Given the description of an element on the screen output the (x, y) to click on. 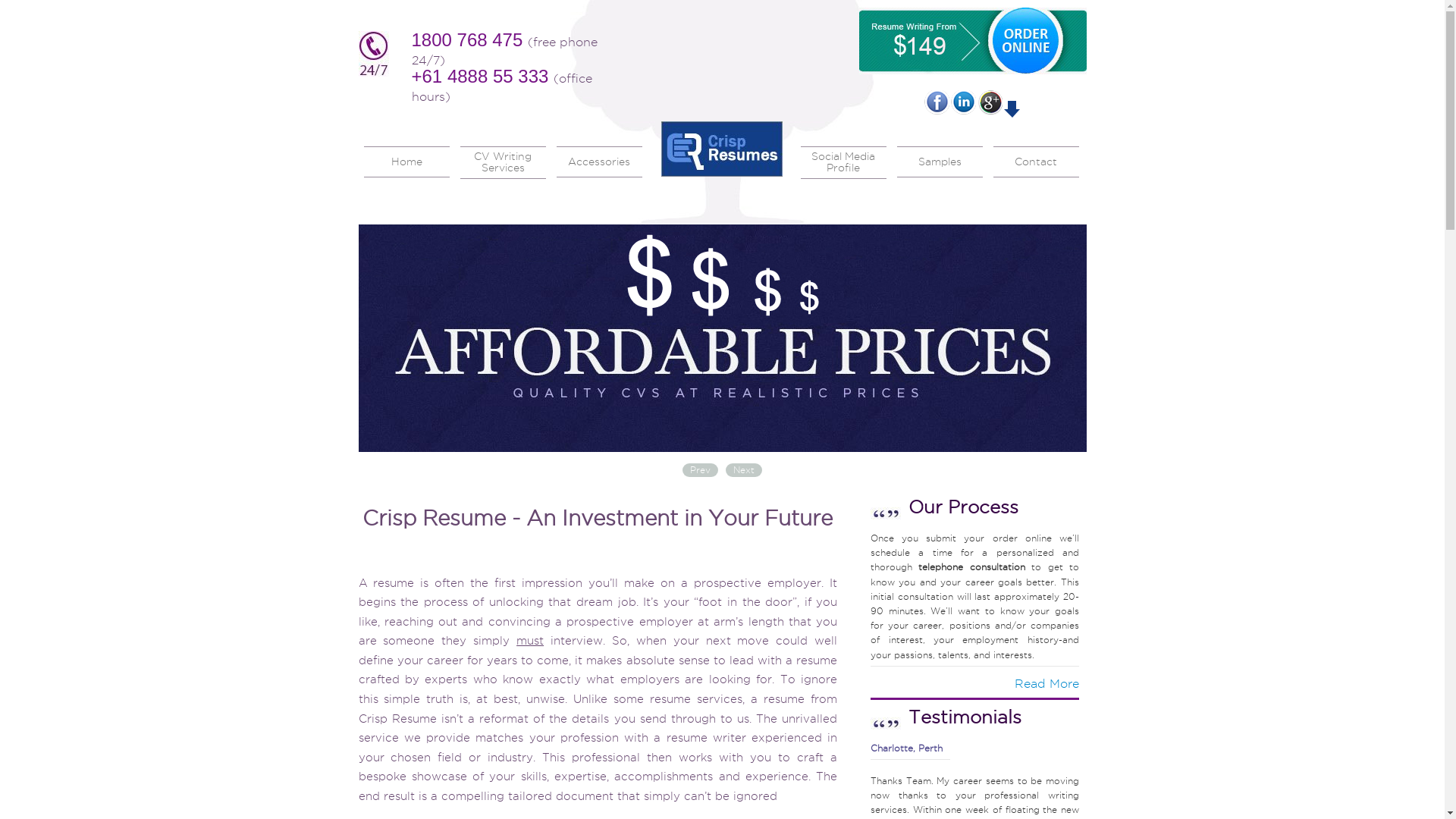
Crisp Resumes Element type: hover (721, 148)
Linked in Element type: text (962, 102)
Crisp Resumes Element type: hover (721, 172)
Facebook Element type: text (935, 102)
Contact Element type: text (1036, 161)
Google+ Element type: text (988, 102)
Resume Writing Services in Sydney Element type: hover (721, 337)
Social Media Profile Element type: text (843, 162)
Samples Element type: text (939, 161)
Read More Element type: text (1046, 683)
Accessories Element type: text (599, 161)
Extra Element type: text (752, 160)
CV Writing Services Element type: text (502, 162)
Home Element type: text (406, 161)
